Given the description of an element on the screen output the (x, y) to click on. 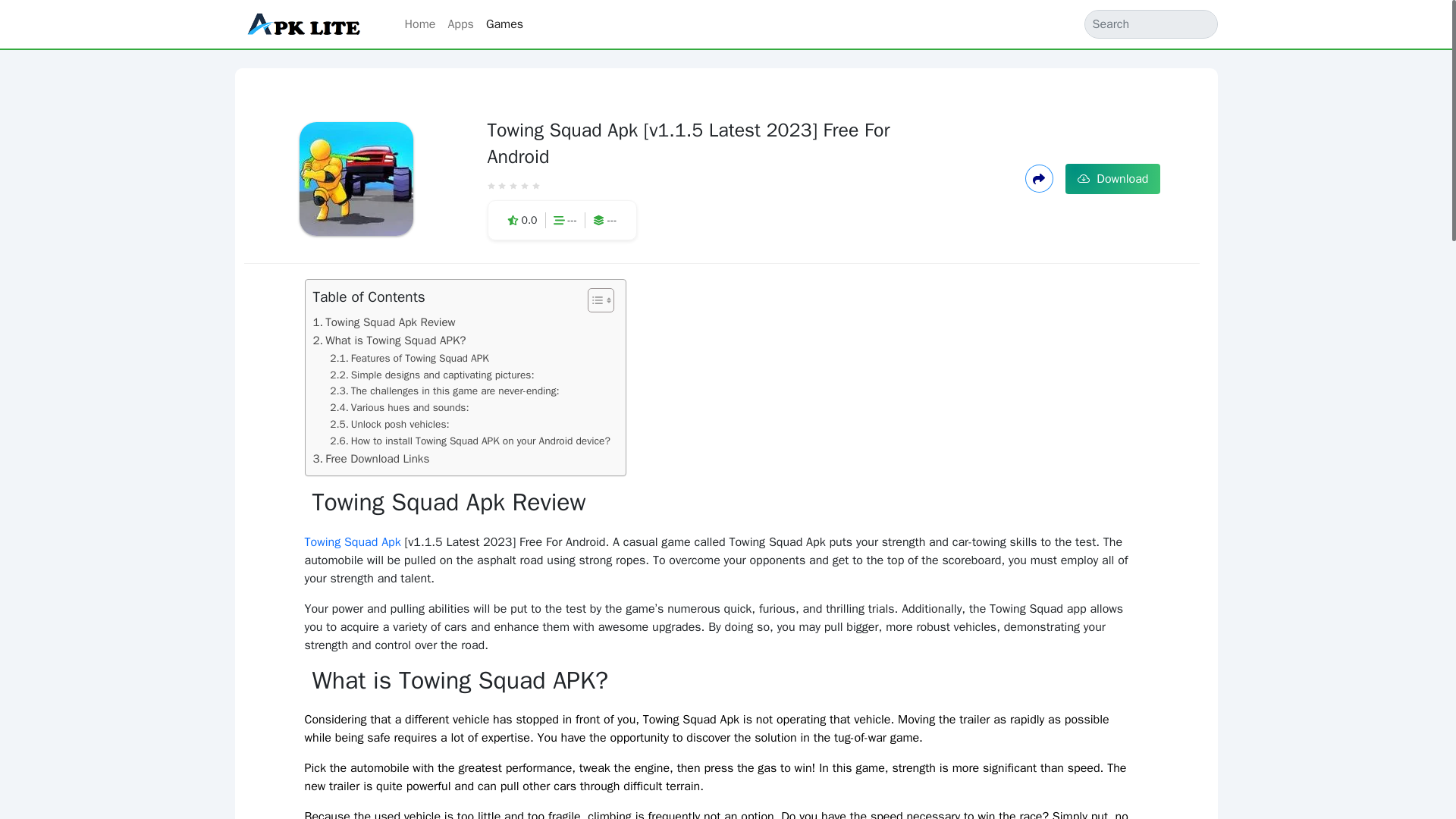
Features of Towing Squad APK (408, 358)
Towing Squad Apk (352, 541)
What is Towing Squad APK? (389, 340)
Various hues and sounds: (399, 407)
Unlock posh vehicles:  (389, 424)
Free Download Links (371, 458)
The challenges in this game are never-ending: (444, 391)
Free Download Links (371, 458)
What is Towing Squad APK? (389, 340)
Games (504, 24)
Features of Towing Squad APK (408, 358)
Apps (460, 24)
Simple designs and captivating pictures: (432, 375)
The challenges in this game are never-ending: (444, 391)
How to install Towing Squad APK on your Android device? (470, 441)
